Given the description of an element on the screen output the (x, y) to click on. 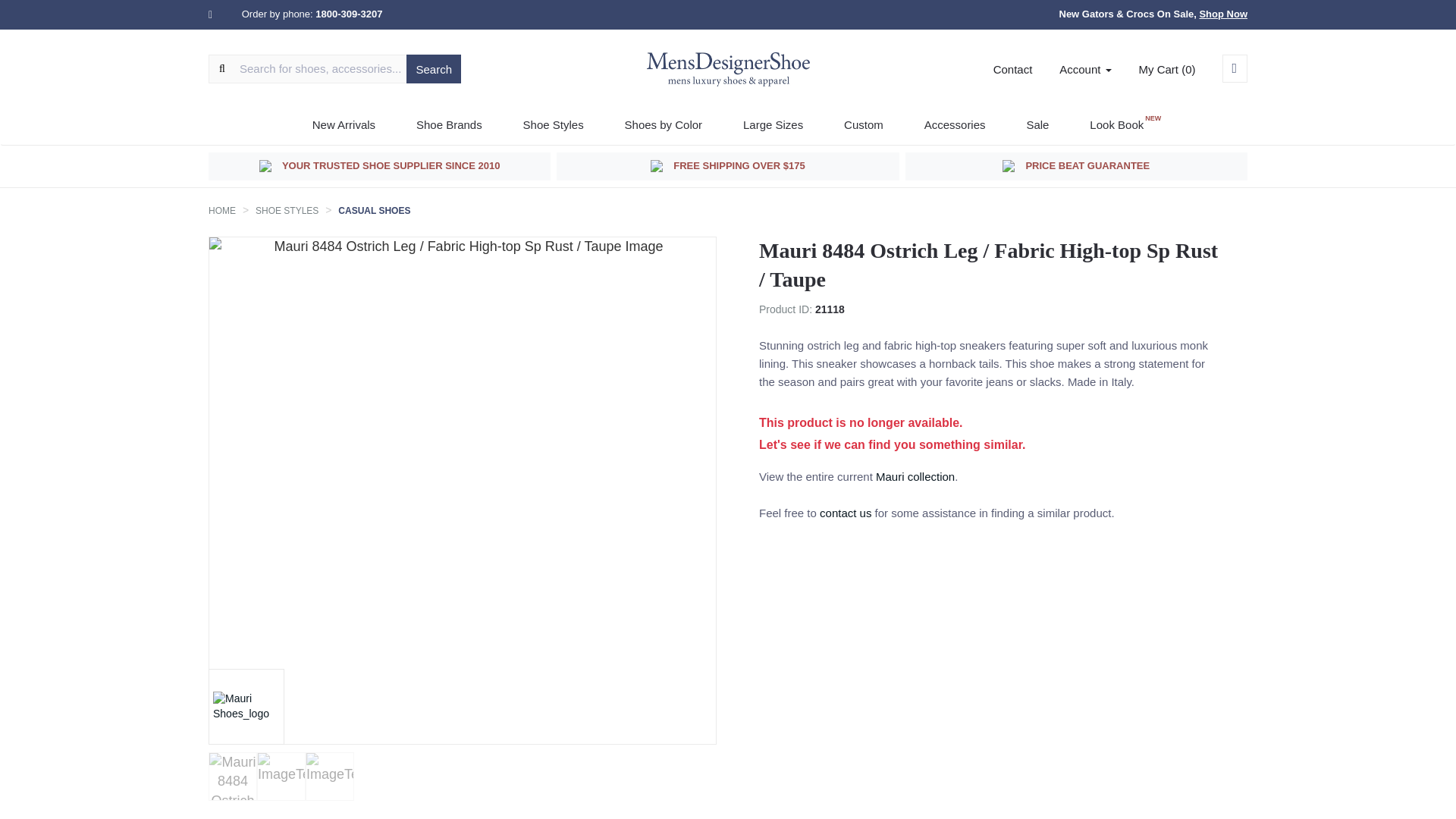
Mauri (245, 706)
1800-309-3207 (348, 13)
Contact (1012, 69)
Account (1084, 69)
Go to MensDesignerShoe.com homepage (727, 69)
